Given the description of an element on the screen output the (x, y) to click on. 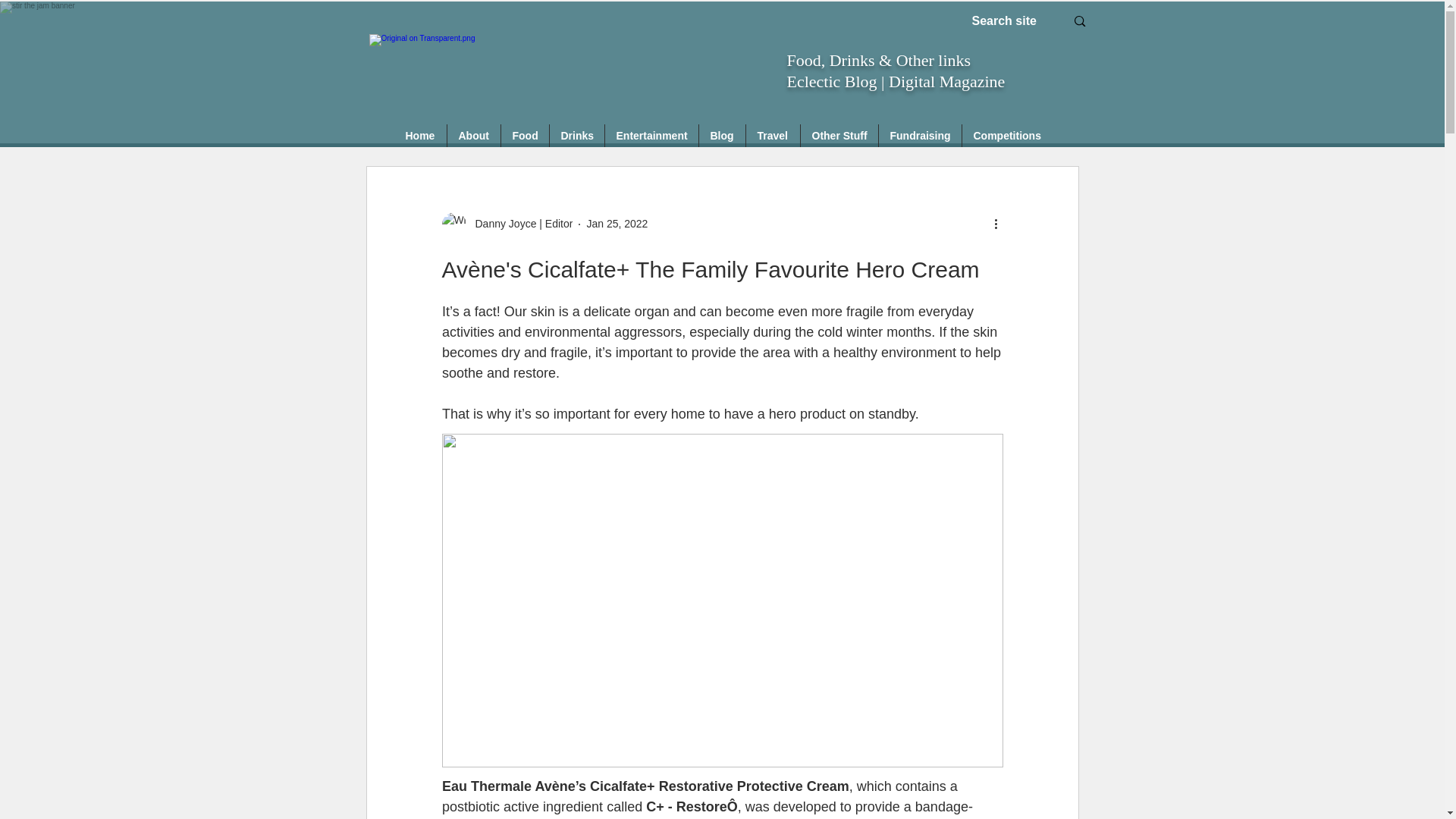
Drinks (576, 135)
Other Stuff (838, 135)
Home (420, 135)
Food (524, 135)
Entertainment (651, 135)
About (473, 135)
Travel (772, 135)
Jan 25, 2022 (616, 223)
Blog (721, 135)
